Given the description of an element on the screen output the (x, y) to click on. 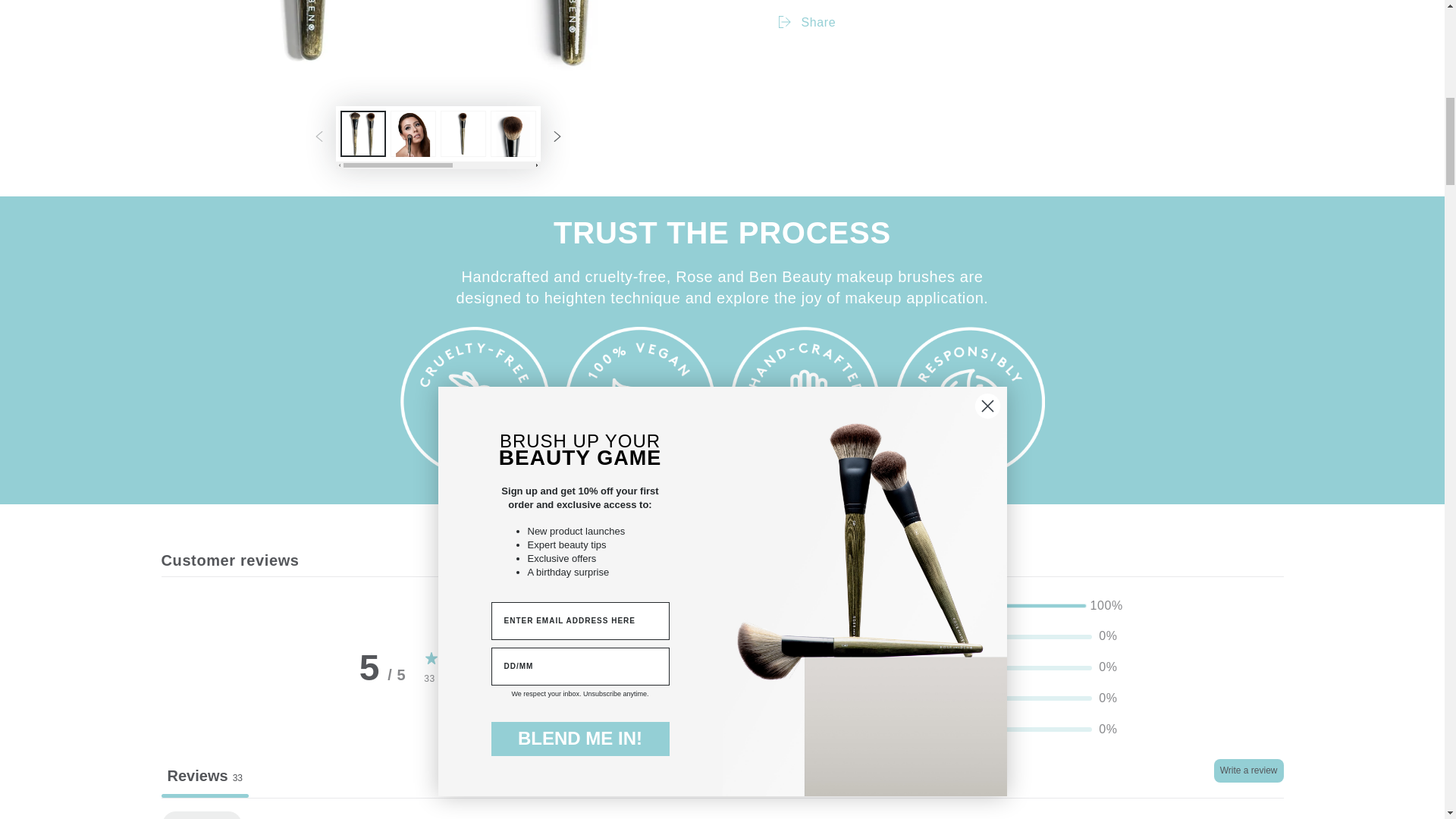
Open media 1 in modal (437, 41)
